Given the description of an element on the screen output the (x, y) to click on. 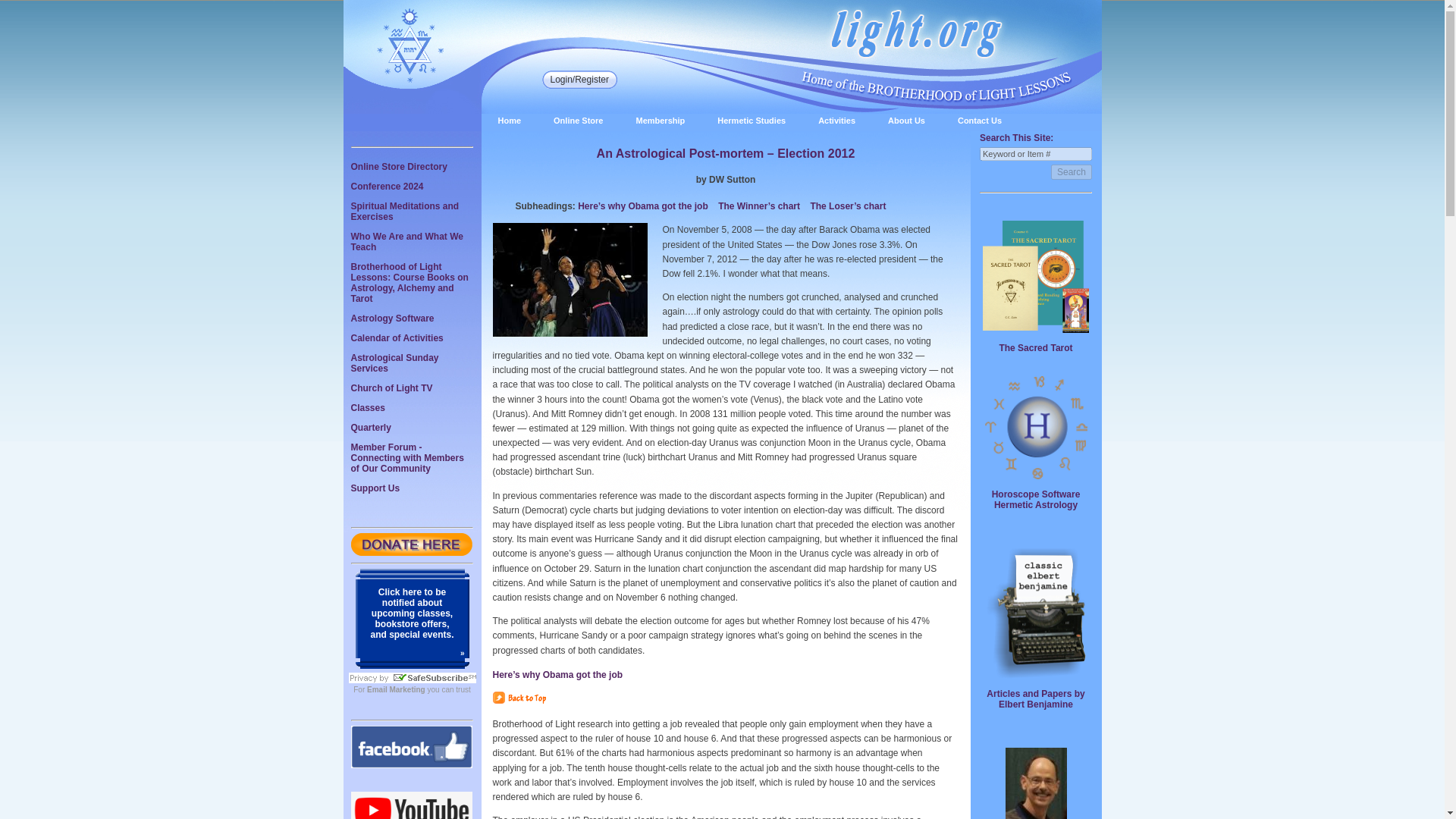
Donate now to support the Church of Light (410, 552)
Hermetic Studies (751, 120)
Search (1071, 171)
Online Store (578, 120)
Membership (659, 120)
Home (508, 120)
